Given the description of an element on the screen output the (x, y) to click on. 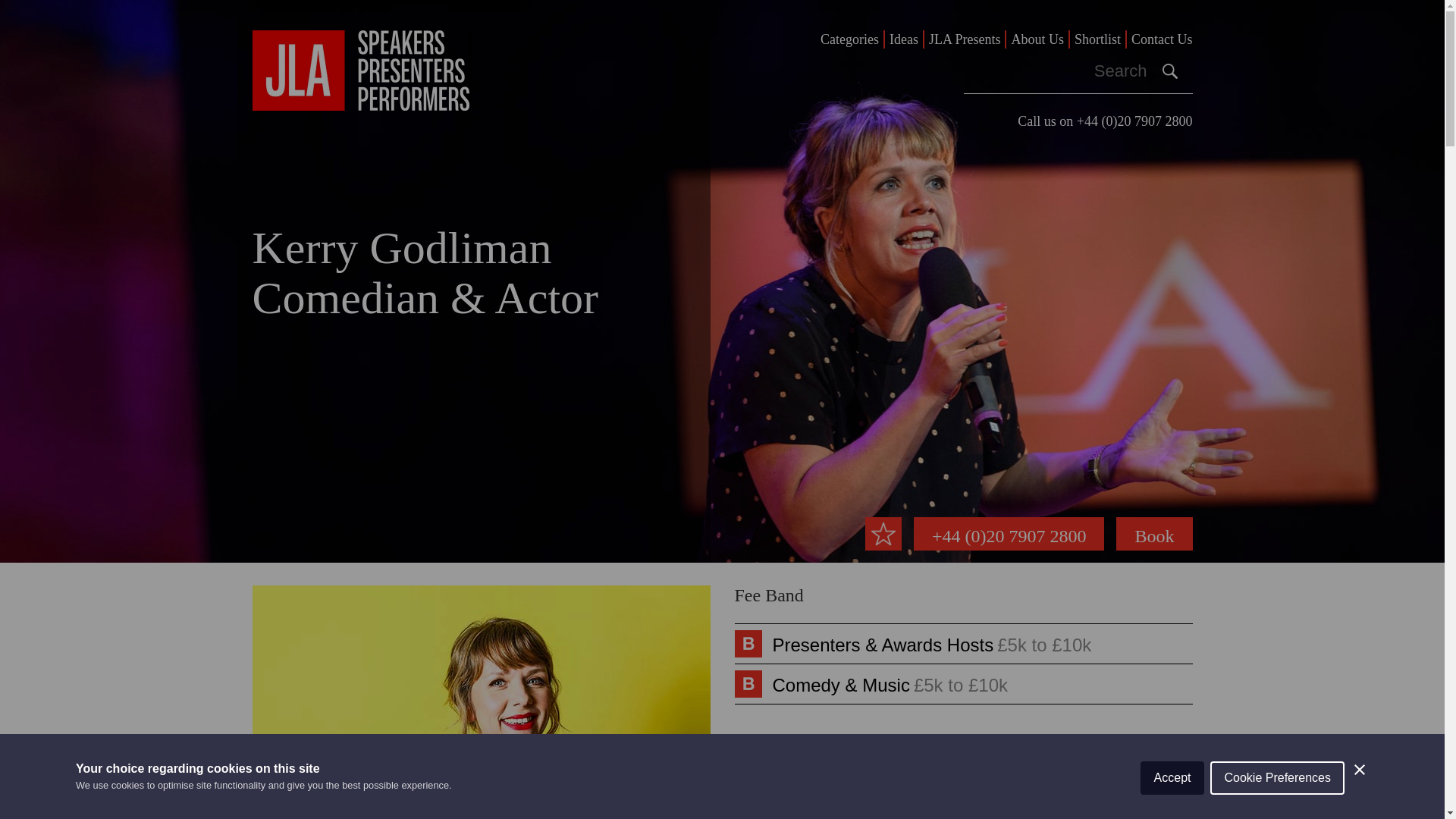
Accept (1172, 815)
Add to Shortlist (882, 533)
JLA (359, 70)
Categories (850, 38)
Cookie Preferences (1276, 808)
